Given the description of an element on the screen output the (x, y) to click on. 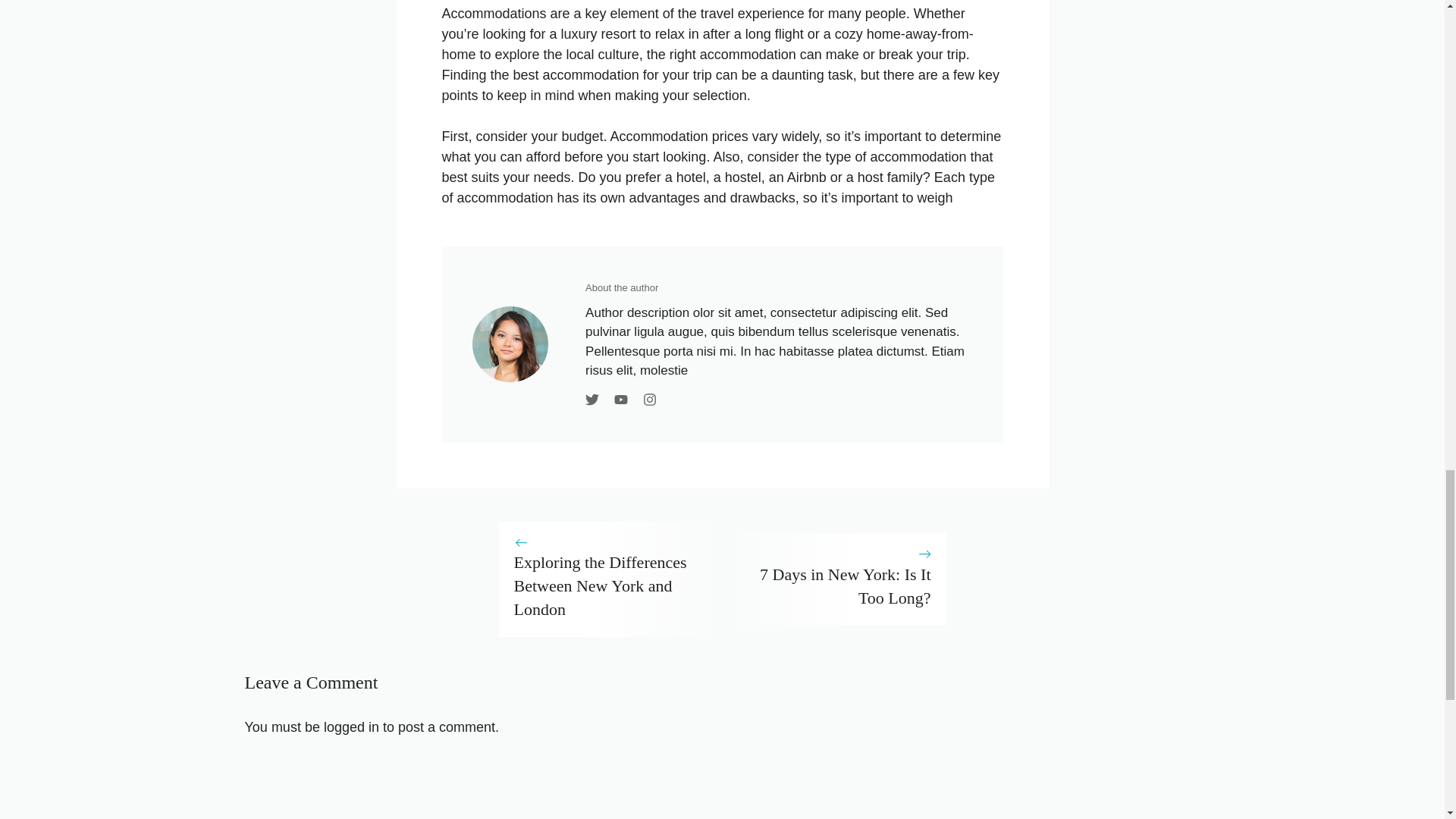
testimonials-2 (509, 344)
7 Days in New York: Is It Too Long? (845, 586)
logged in (350, 726)
Exploring the Differences Between New York and London (600, 585)
